Given the description of an element on the screen output the (x, y) to click on. 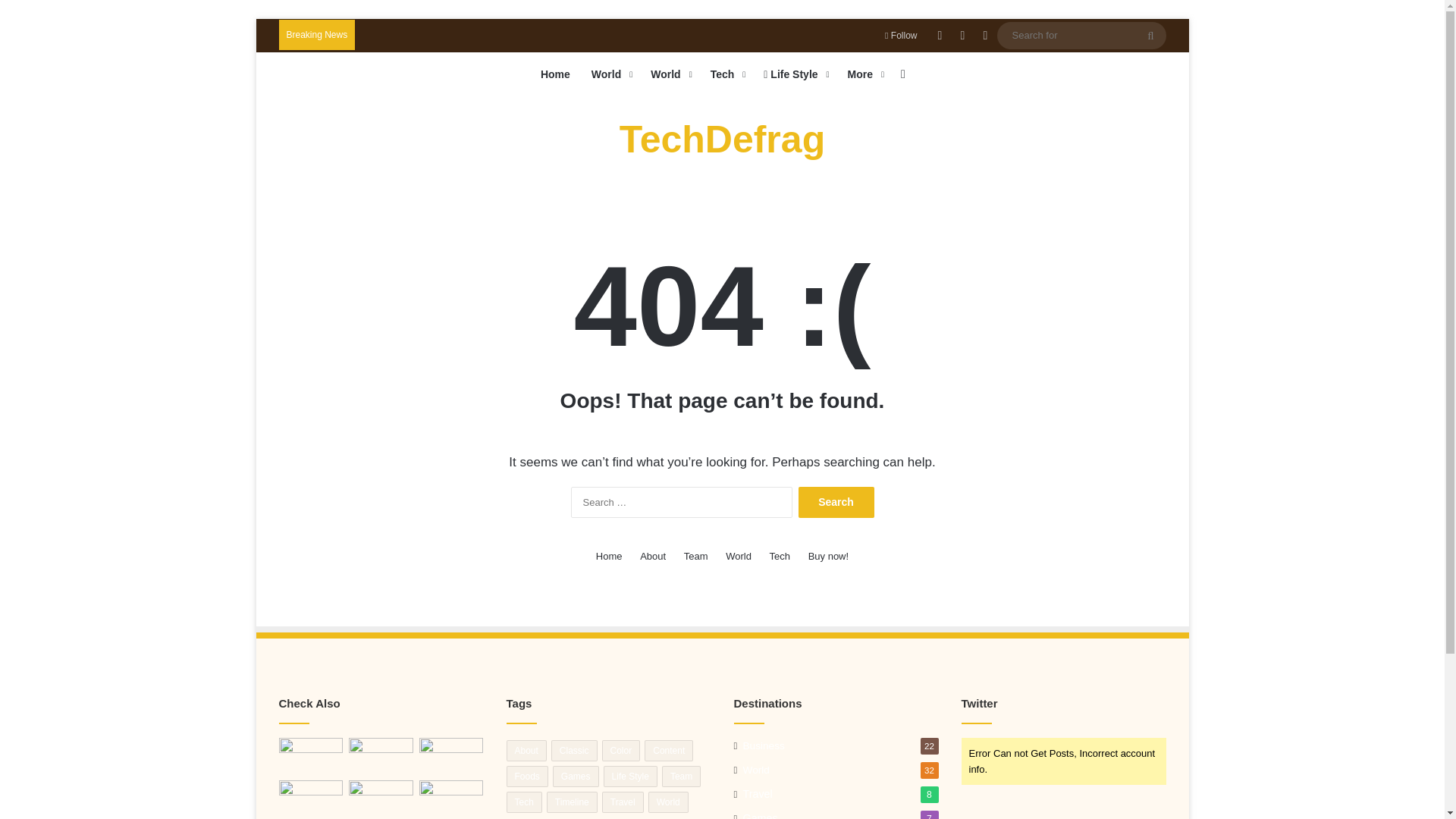
Search for (1080, 35)
Buy now! (828, 555)
Search (835, 501)
World (610, 74)
TechDefrag (722, 139)
Home (554, 74)
Follow (900, 35)
Life Style (793, 74)
Search (835, 501)
Tech (727, 74)
